Given the description of an element on the screen output the (x, y) to click on. 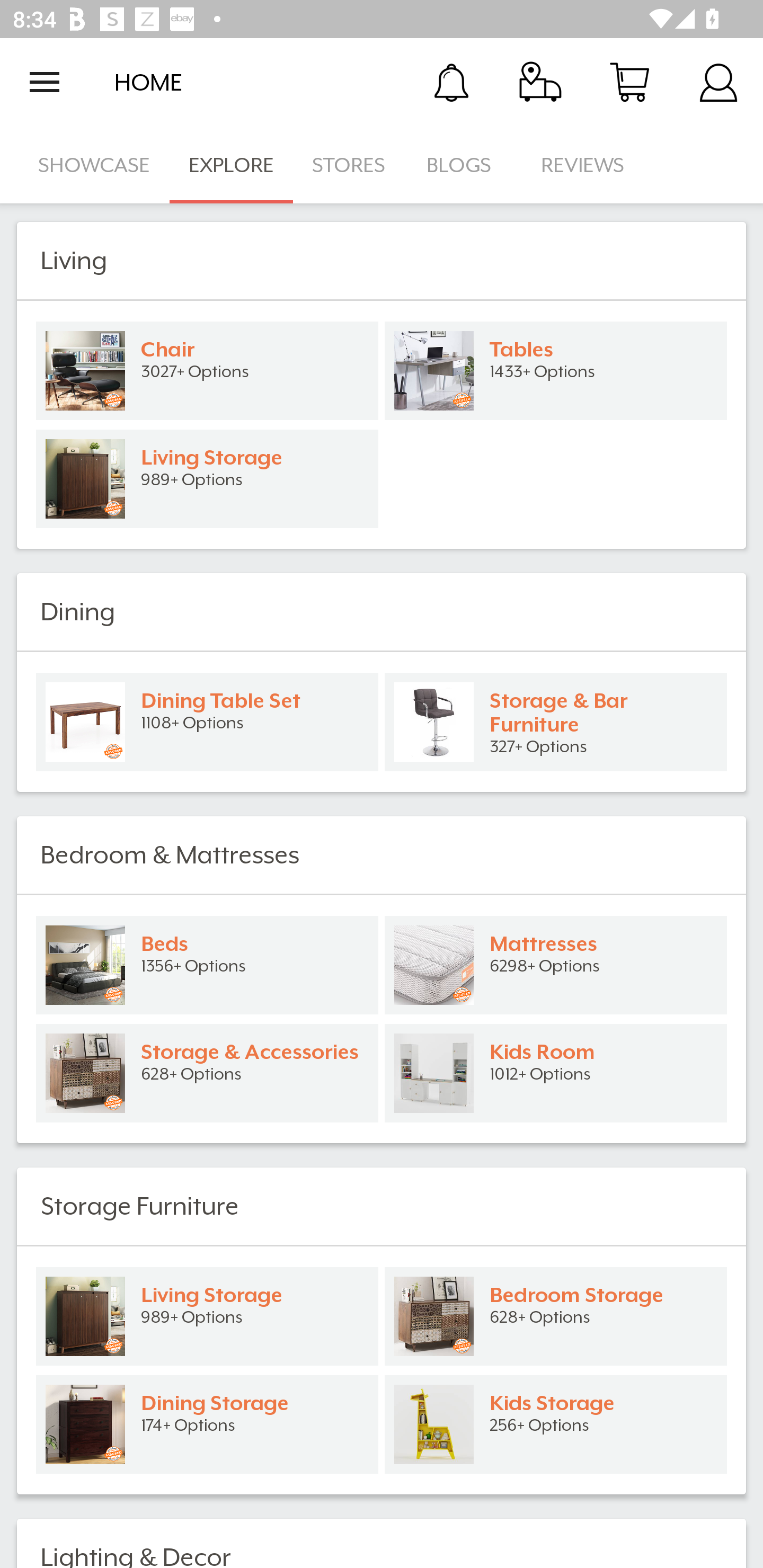
Open navigation drawer (44, 82)
Notification (450, 81)
Track Order (540, 81)
Cart (629, 81)
Account Details (718, 81)
SHOWCASE (94, 165)
EXPLORE (230, 165)
STORES (349, 165)
BLOGS (464, 165)
REVIEWS (582, 165)
Chair 3027+ Options (206, 370)
Tables 1433+ Options (555, 370)
Living Storage 989+ Options (206, 478)
Dining Table Set 1108+ Options (206, 721)
Storage & Bar Furniture 327+ Options (555, 721)
Beds 1356+ Options (206, 965)
Mattresses 6298+ Options (555, 965)
Storage & Accessories 628+ Options (206, 1073)
Kids Room 1012+ Options (555, 1073)
Living Storage 989+ Options (206, 1316)
Bedroom Storage 628+ Options (555, 1316)
Dining Storage 174+ Options (206, 1424)
Kids Storage 256+ Options (555, 1424)
